Given the description of an element on the screen output the (x, y) to click on. 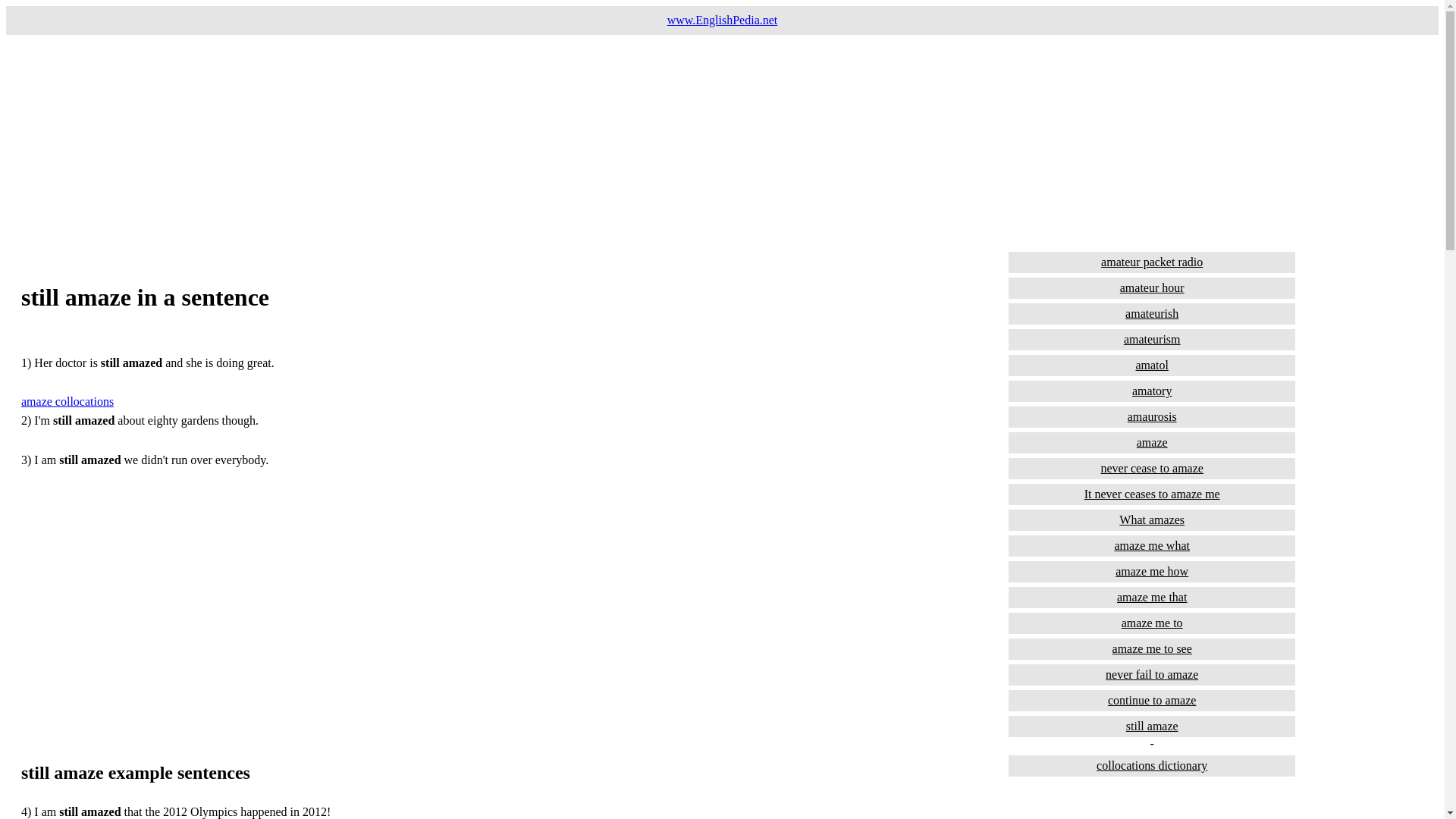
amaurosis (1152, 416)
never cease to amaze (1152, 468)
amateurism in a sentence (1152, 339)
collocations dictionary (1152, 765)
amaze me how in a sentence (1152, 571)
amaze in a sentence (1152, 442)
never fail to amaze (1152, 674)
amateur hour (1152, 287)
amateurish in a sentence (1152, 313)
amateur packet radio in a sentence (1152, 261)
never cease to amaze in a sentence (1152, 468)
amatory in a sentence (1152, 391)
amatory (1152, 391)
amatol (1152, 364)
